Given the description of an element on the screen output the (x, y) to click on. 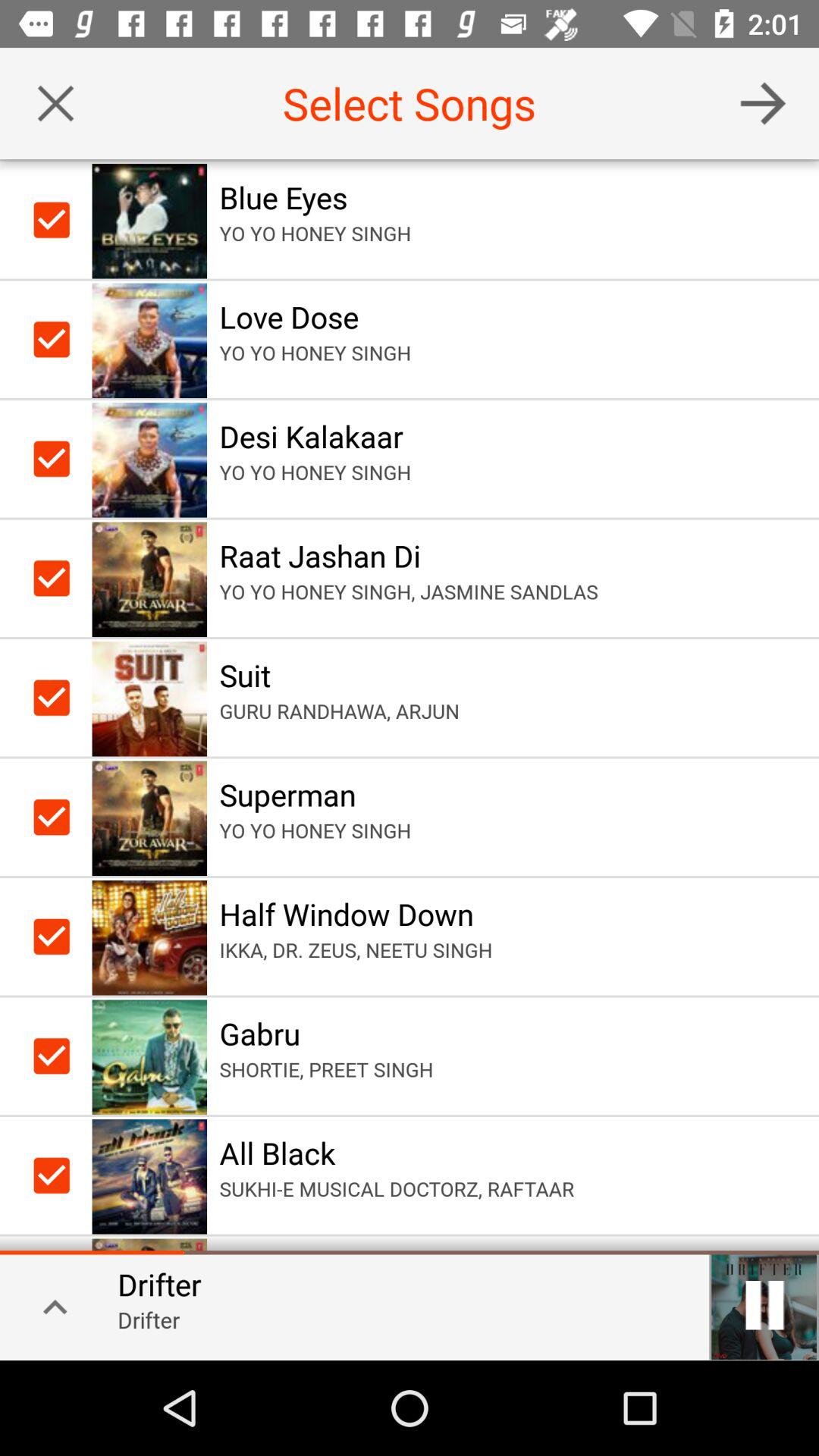
expand track information section (49, 1305)
